Given the description of an element on the screen output the (x, y) to click on. 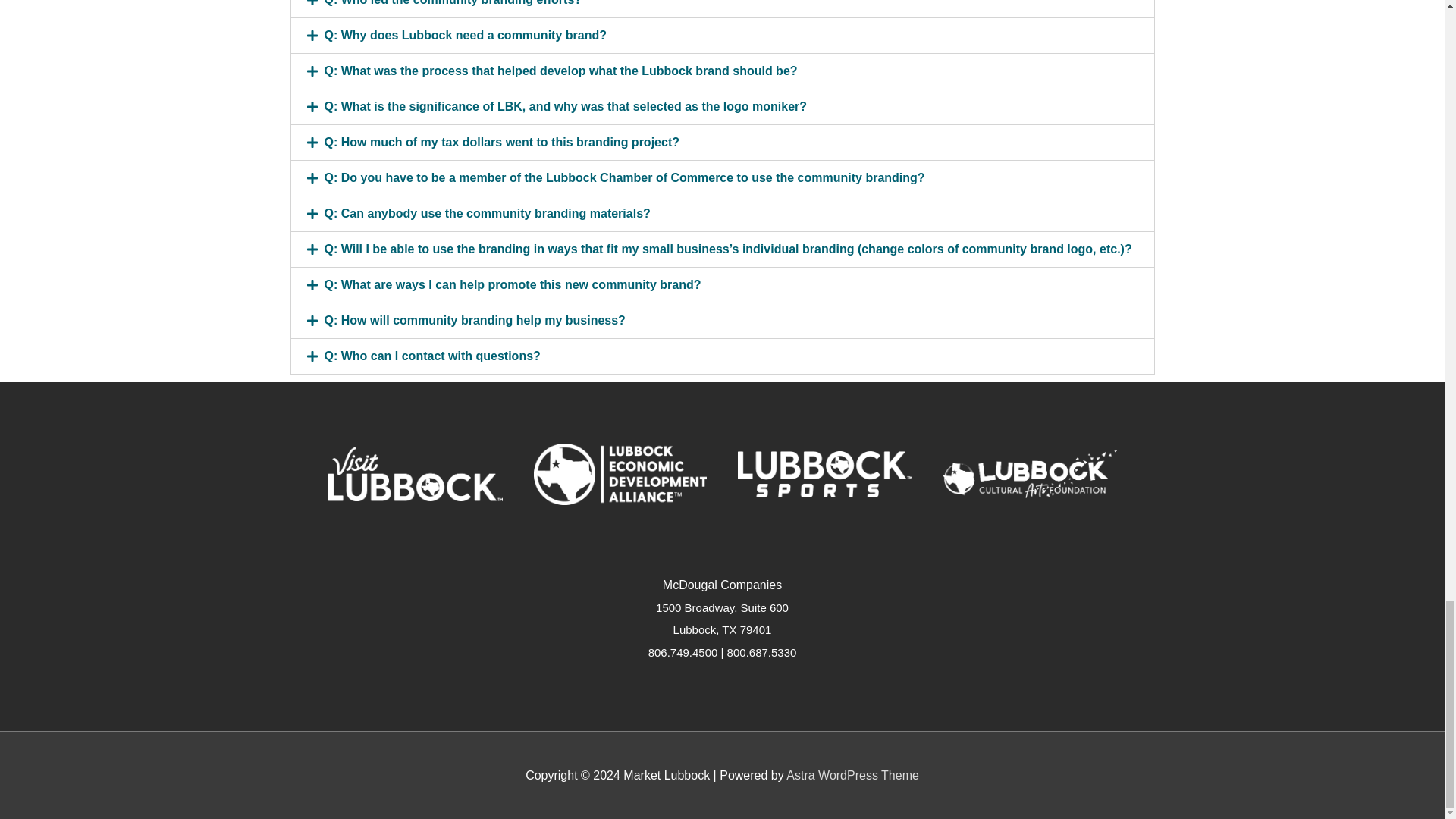
Q: How much of my tax dollars went to this branding project? (501, 141)
Q: Can anybody use the community branding materials? (487, 213)
Q: Who can I contact with questions? (432, 355)
Astra WordPress Theme (852, 775)
Q: Why does Lubbock need a community brand? (465, 34)
Q: How will community branding help my business? (475, 319)
Q: Who led the community branding efforts? (453, 2)
